Given the description of an element on the screen output the (x, y) to click on. 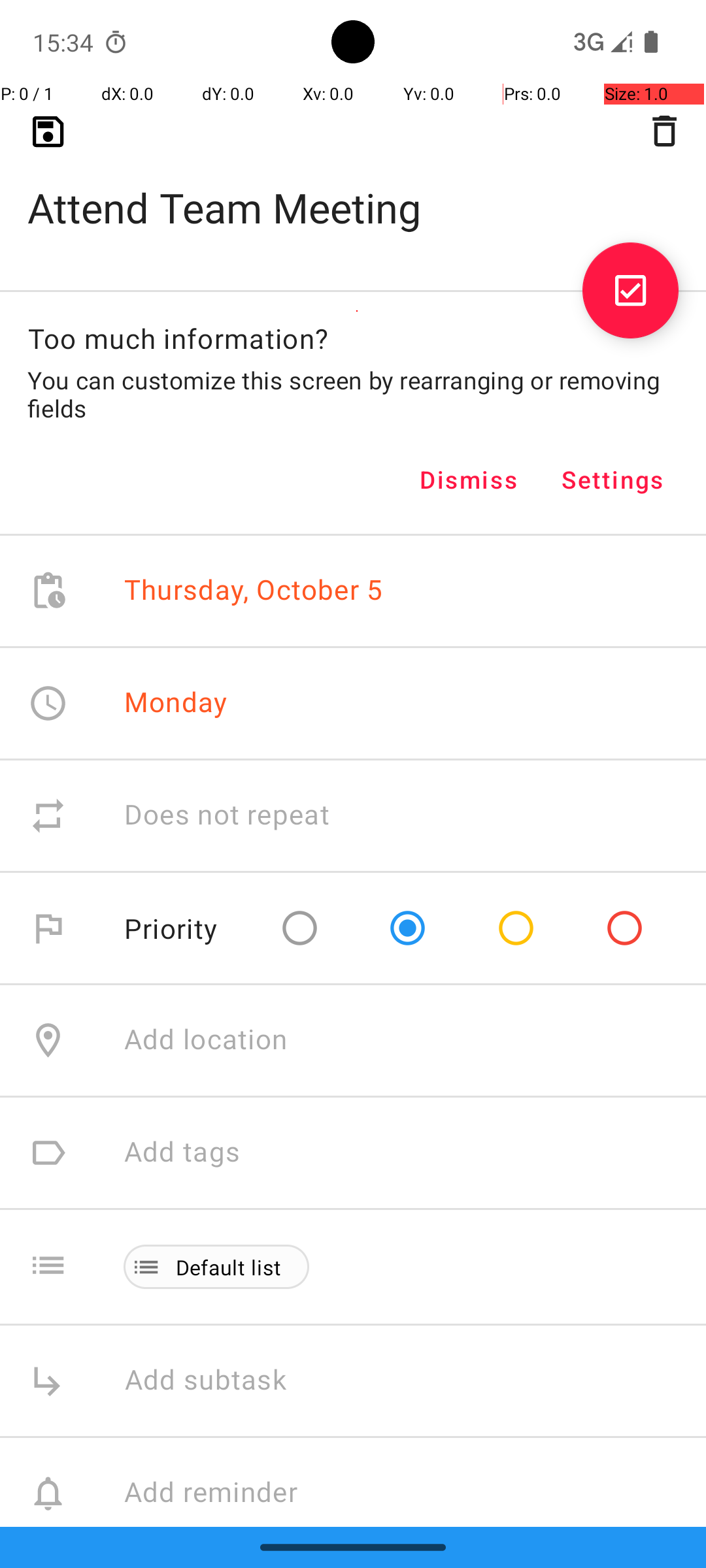
Thursday, October 5 Element type: android.widget.TextView (253, 590)
